Given the description of an element on the screen output the (x, y) to click on. 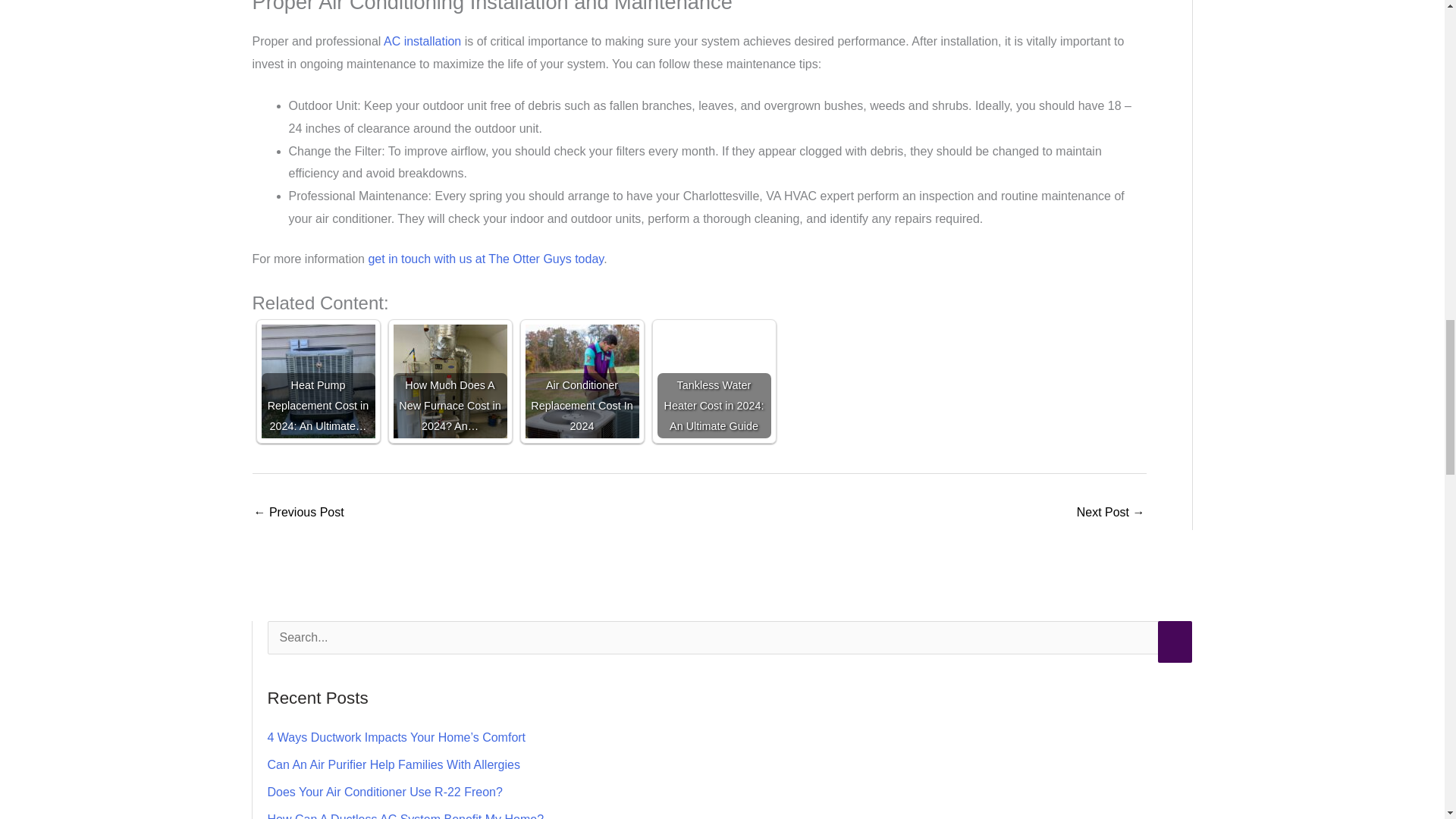
Tankless Water Heater Cost in 2024: An Ultimate Guide (713, 381)
Air Conditioner Replacement Cost In 2024 (581, 381)
How Does a Tankless Water Heater Work? (1110, 513)
How to Plunge Like a Plumber (298, 513)
